Given the description of an element on the screen output the (x, y) to click on. 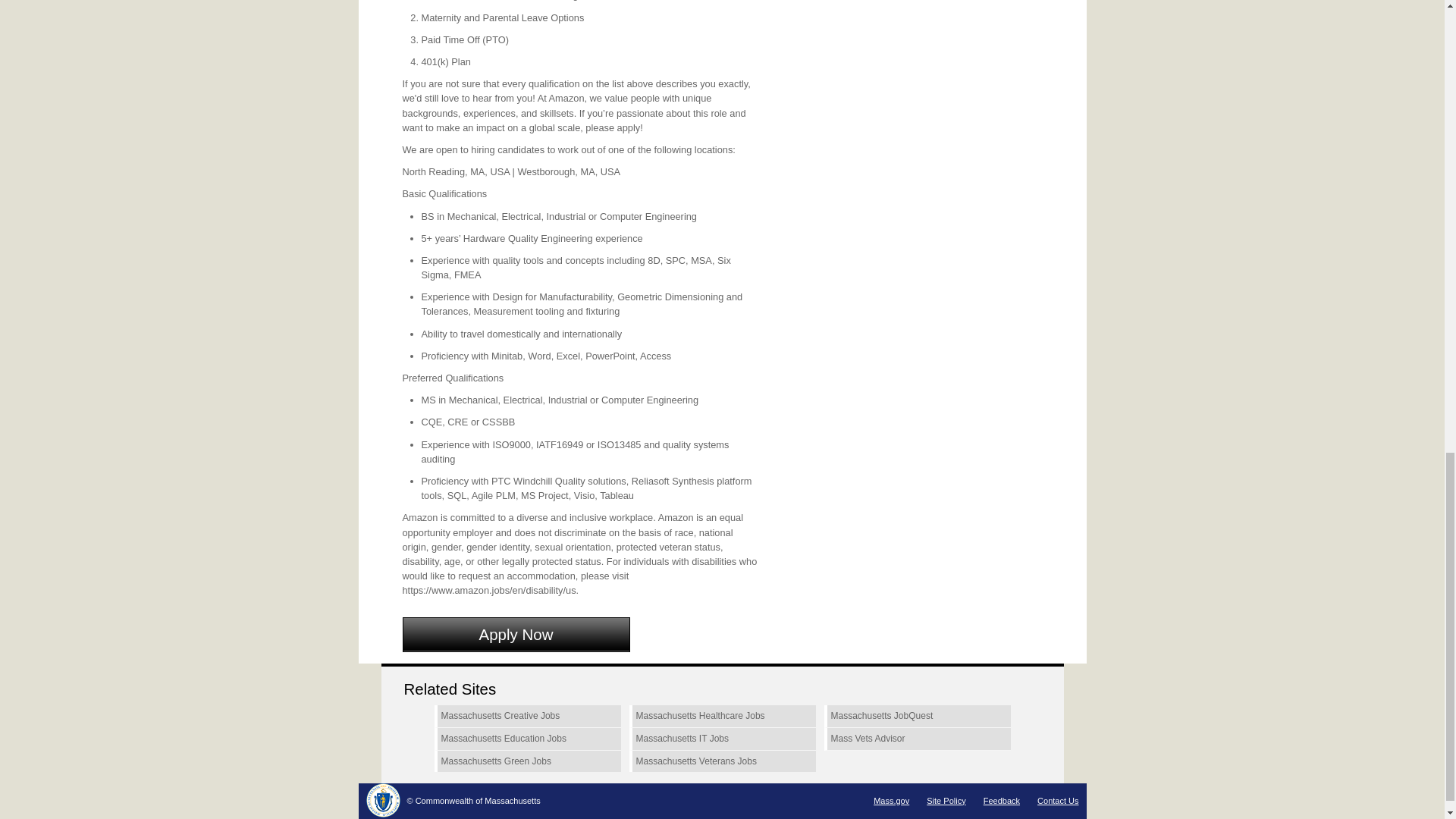
Mass.gov (890, 800)
Massachusetts IT Jobs (721, 739)
Site Policy (945, 800)
Massachusetts Green Jobs (526, 762)
Massachusetts Healthcare Jobs (721, 716)
Massachusetts JobQuest (917, 716)
Massachusetts Veterans Jobs (721, 762)
Contact Us (1057, 800)
Feedback (1002, 800)
